Given the description of an element on the screen output the (x, y) to click on. 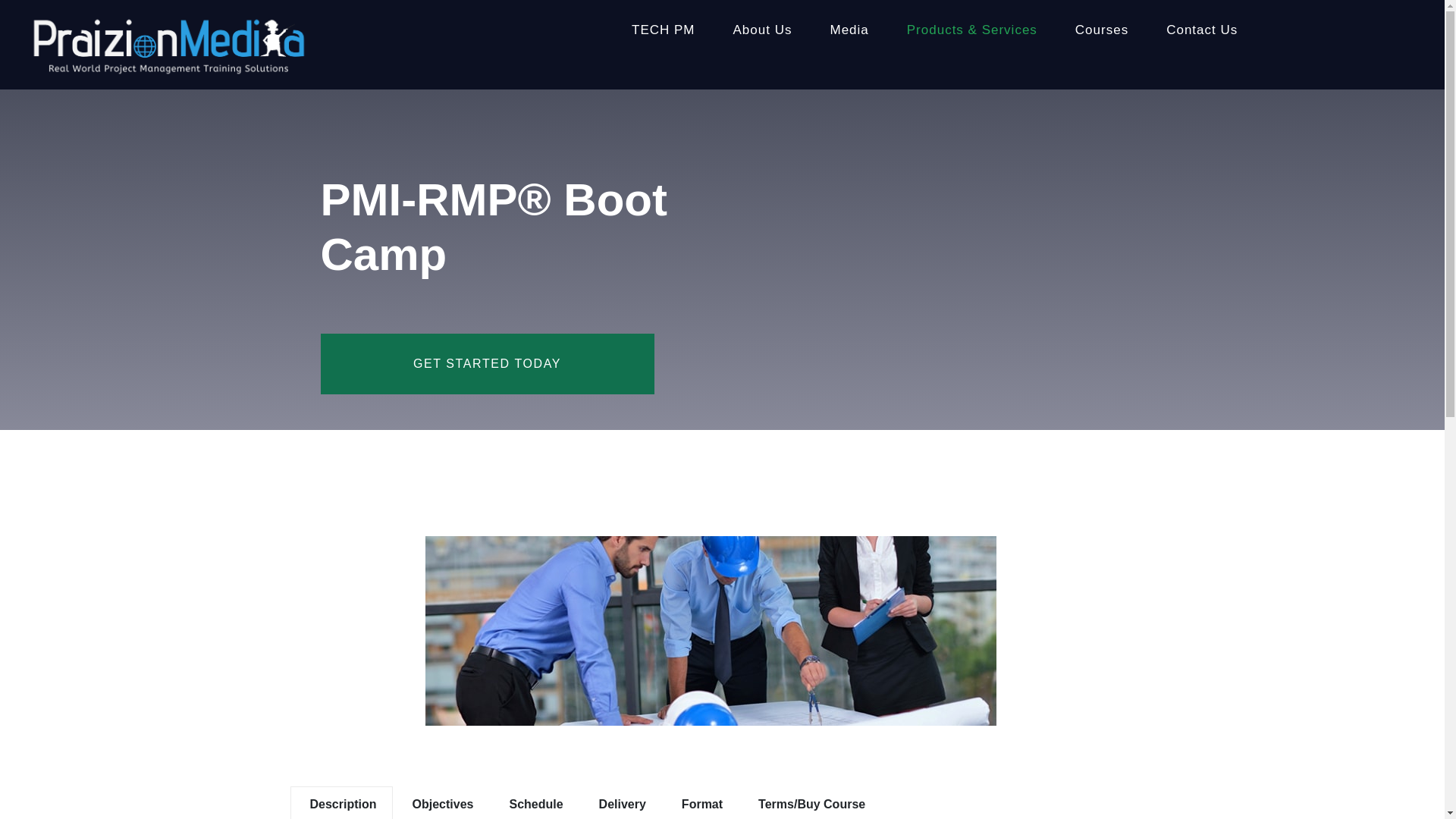
Courses (1101, 23)
TECH PM (663, 23)
About Us (762, 23)
Contact Us (1201, 23)
Media (848, 23)
